Given the description of an element on the screen output the (x, y) to click on. 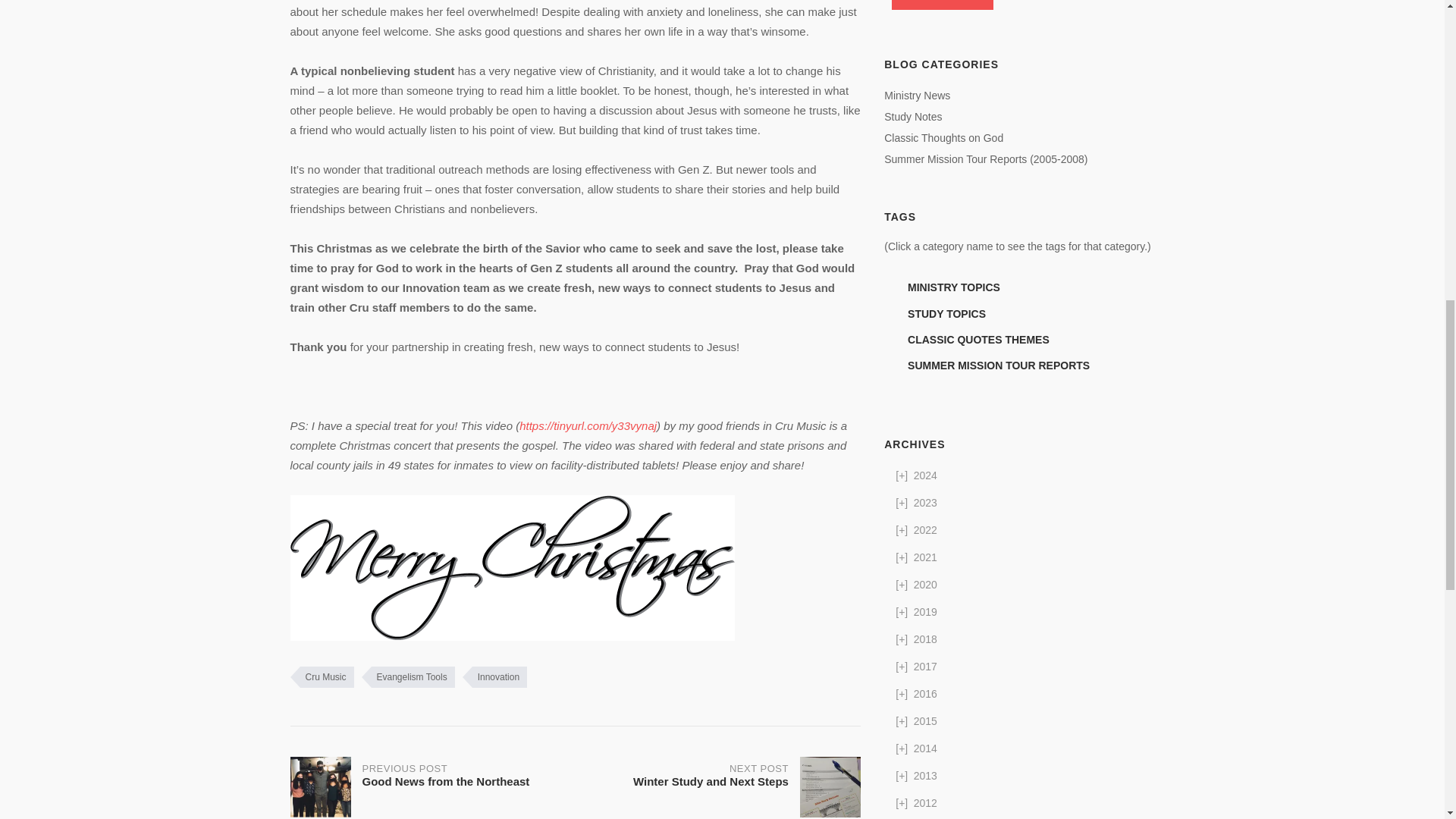
Innovation (495, 676)
Classic Thoughts on God (943, 137)
Ministry News (916, 95)
Cru Music (321, 676)
Evangelism Tools (407, 676)
SUBSCRIBE (432, 786)
Study Notes (941, 4)
